Given the description of an element on the screen output the (x, y) to click on. 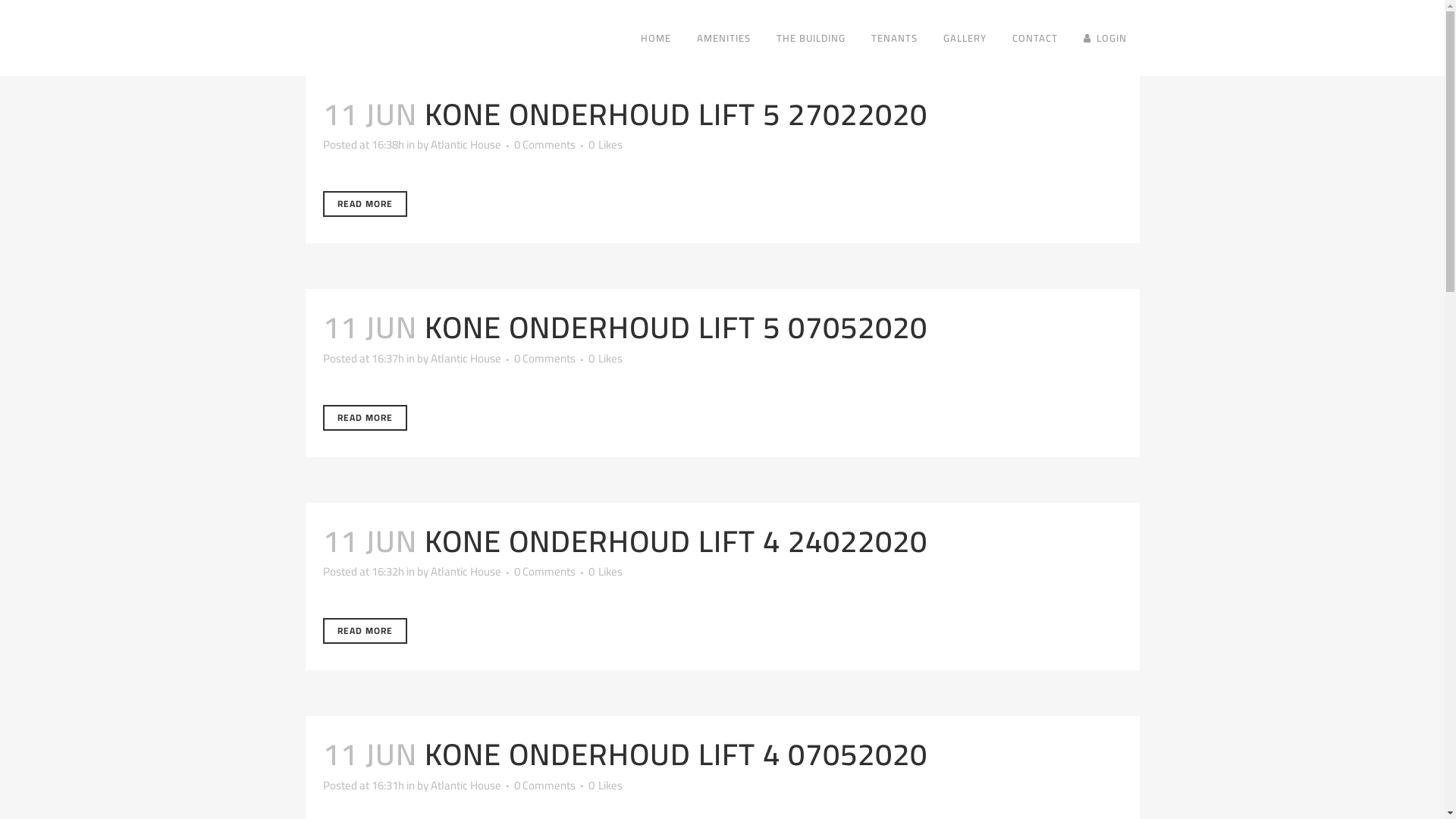
0 Comments Element type: text (544, 144)
KONE ONDERHOUD LIFT 4 24022020 Element type: text (675, 540)
THE BUILDING Element type: text (809, 37)
0 Comments Element type: text (544, 784)
READ MORE Element type: text (365, 203)
Atlantic House Element type: text (465, 571)
KONE ONDERHOUD LIFT 4 07052020 Element type: text (675, 753)
KONE ONDERHOUD LIFT 5 07052020 Element type: text (675, 326)
GALLERY Element type: text (963, 37)
Atlantic House Element type: text (465, 144)
READ MORE Element type: text (365, 630)
0 Likes Element type: text (605, 571)
KONE ONDERHOUD LIFT 5 27022020 Element type: text (675, 113)
0 Likes Element type: text (605, 784)
READ MORE Element type: text (365, 417)
0 Comments Element type: text (544, 571)
HOME Element type: text (655, 37)
LOGIN Element type: text (1104, 37)
Atlantic House Element type: text (465, 784)
CONTACT Element type: text (1034, 37)
AMENITIES Element type: text (723, 37)
0 Comments Element type: text (544, 358)
TENANTS Element type: text (894, 37)
Atlantic House Element type: text (465, 358)
0 Likes Element type: text (605, 358)
0 Likes Element type: text (605, 144)
